Given the description of an element on the screen output the (x, y) to click on. 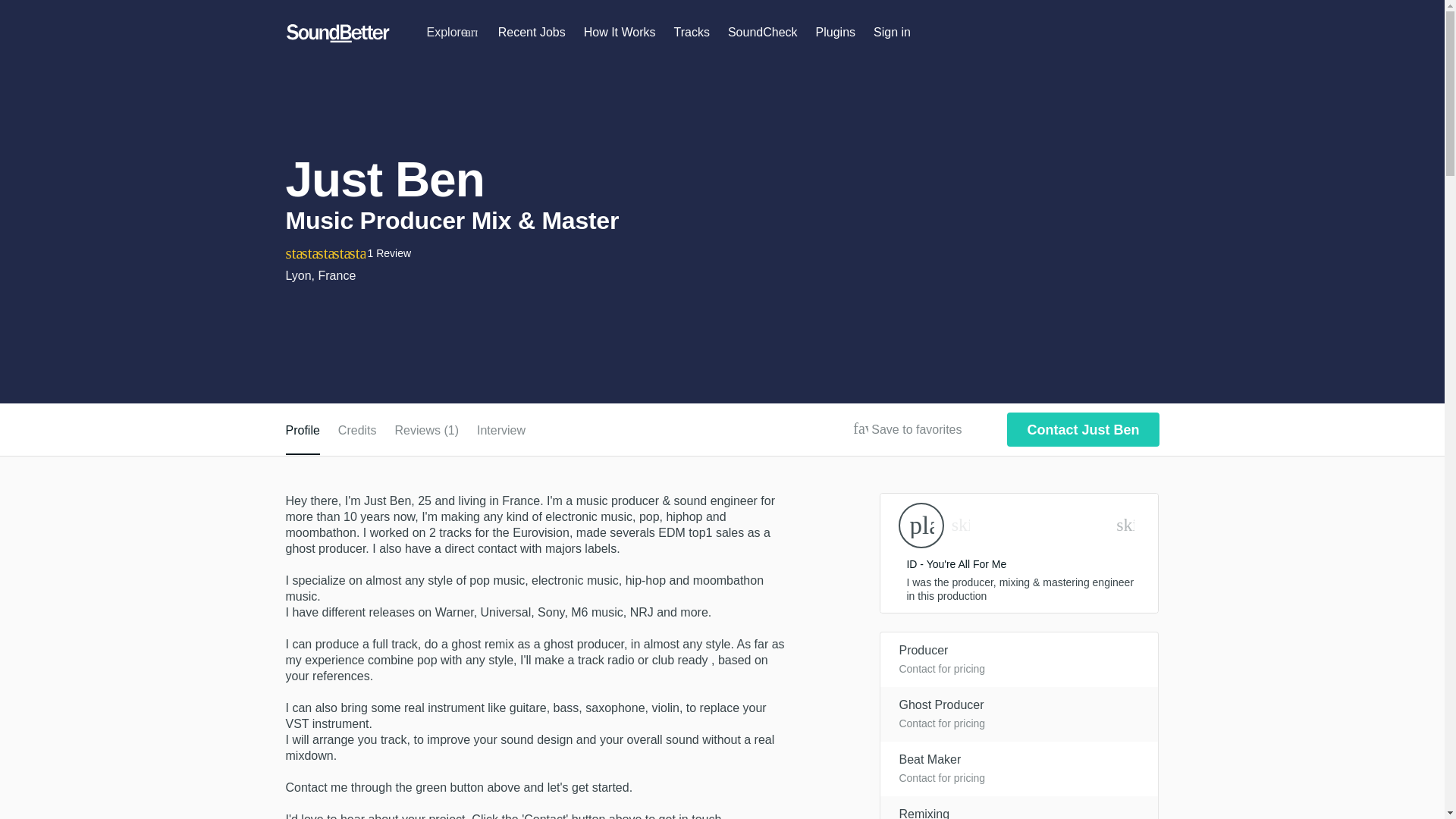
SoundBetter (337, 33)
